Given the description of an element on the screen output the (x, y) to click on. 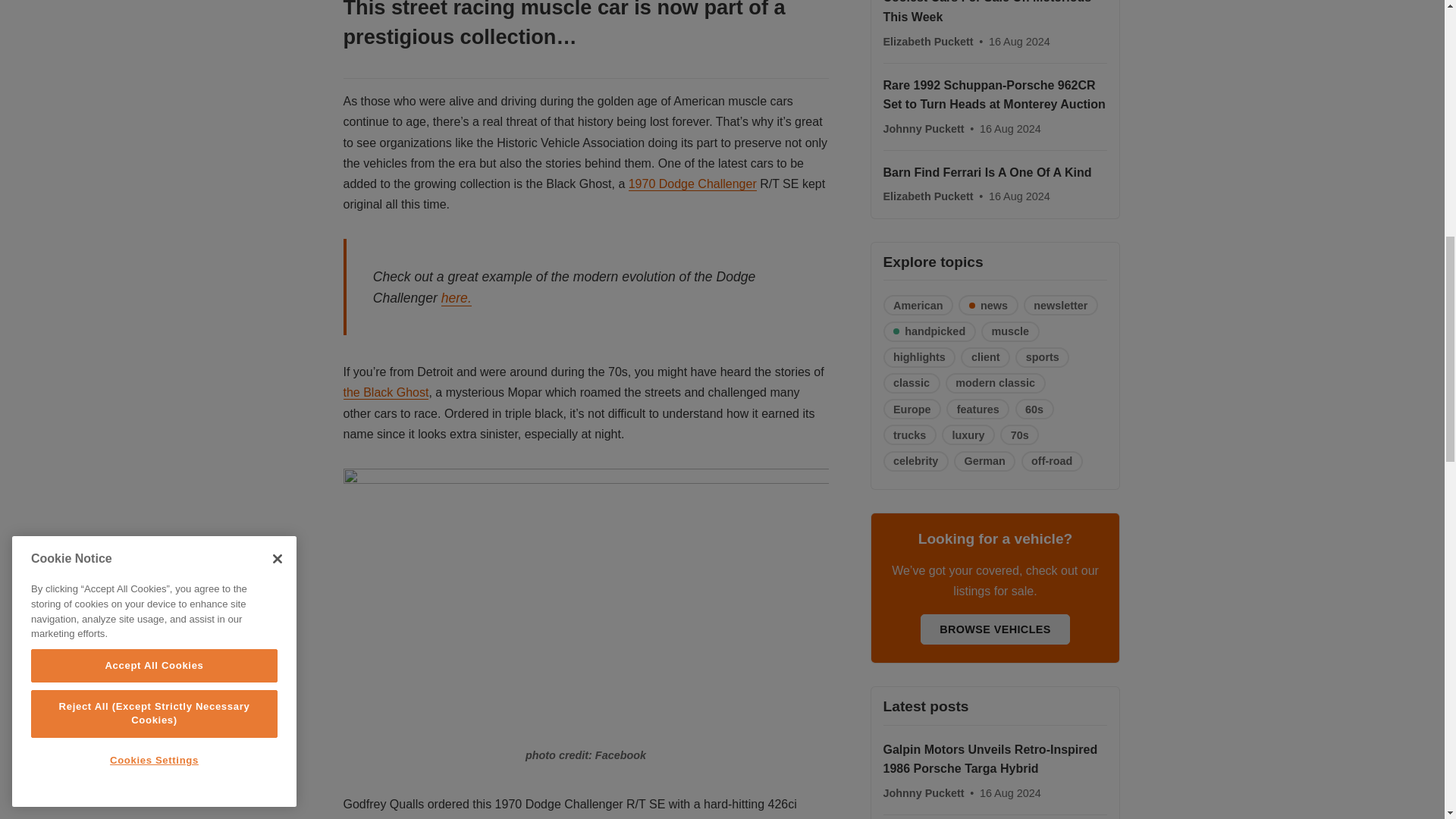
Elizabeth Puckett (928, 196)
Elizabeth Puckett (928, 41)
the Black Ghost (385, 392)
here. (456, 298)
news (987, 304)
Johnny Puckett (924, 128)
1970 Dodge Challenger (692, 183)
American (917, 304)
